Given the description of an element on the screen output the (x, y) to click on. 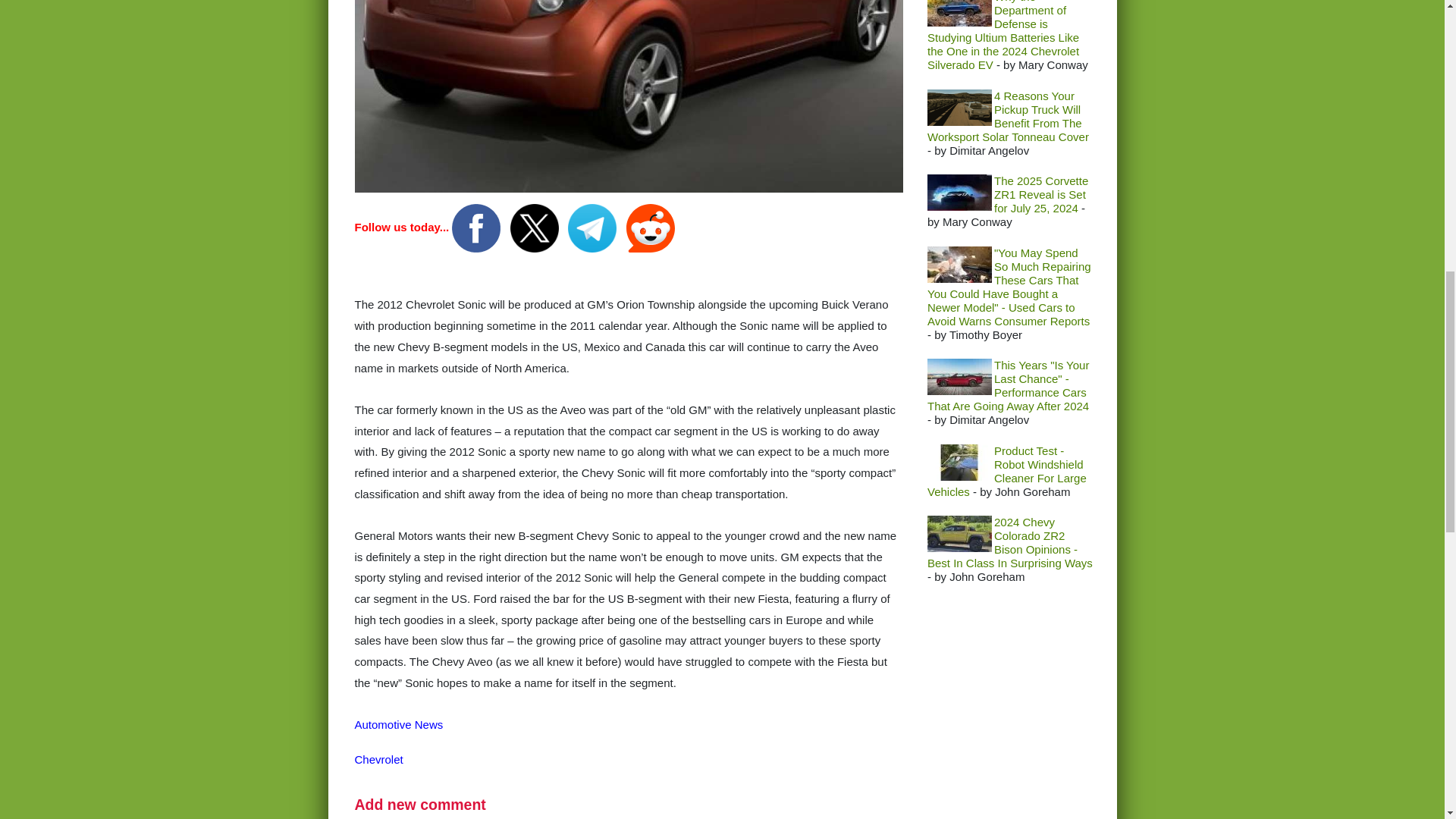
Share your thoughts and opinions. (420, 804)
Join us on Telegram! (593, 226)
Automotive News (399, 724)
Join us on Reddit! (650, 226)
Chevrolet (379, 758)
Add new comment (420, 804)
